Given the description of an element on the screen output the (x, y) to click on. 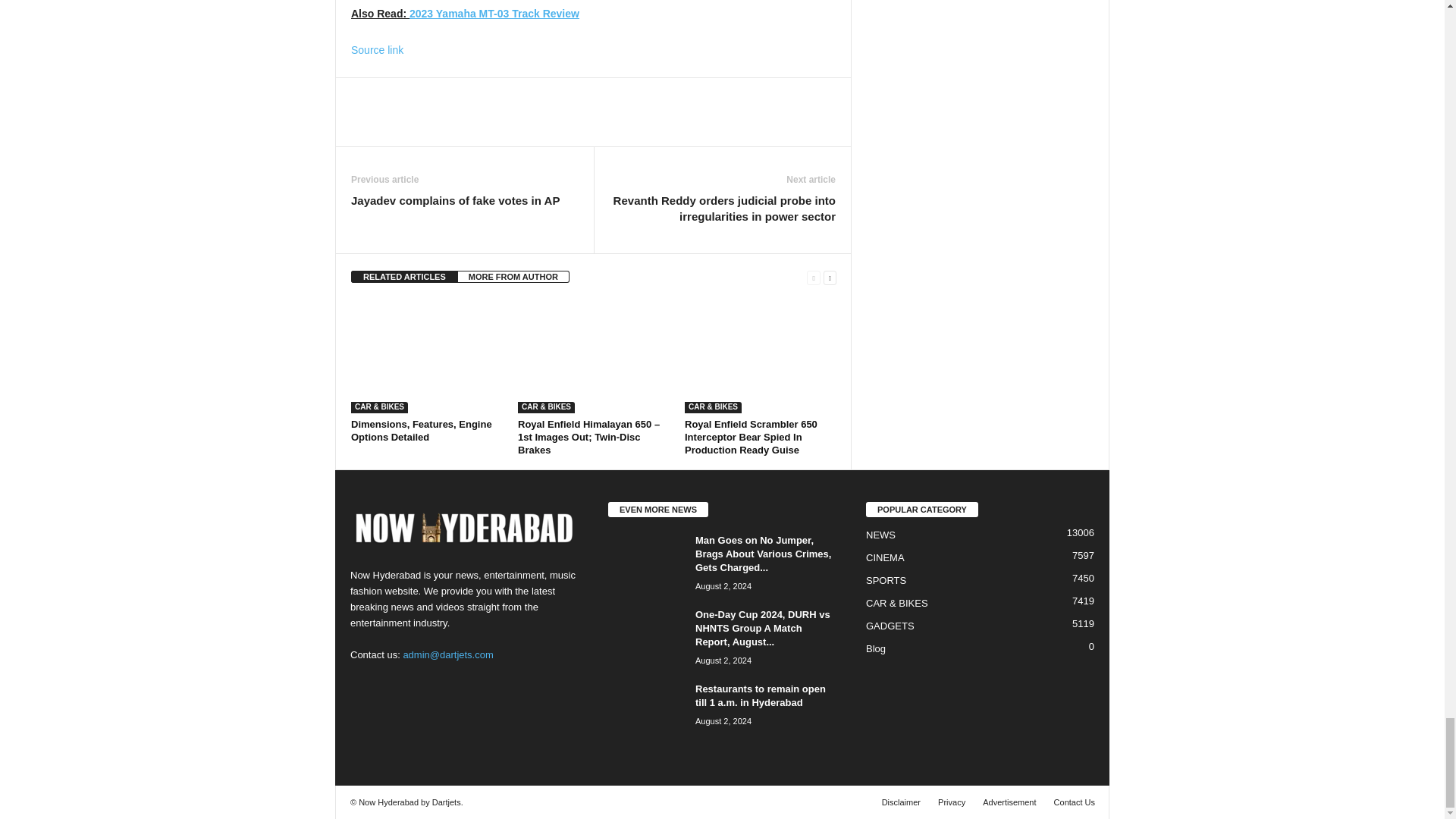
bottomFacebookLike (390, 93)
